Given the description of an element on the screen output the (x, y) to click on. 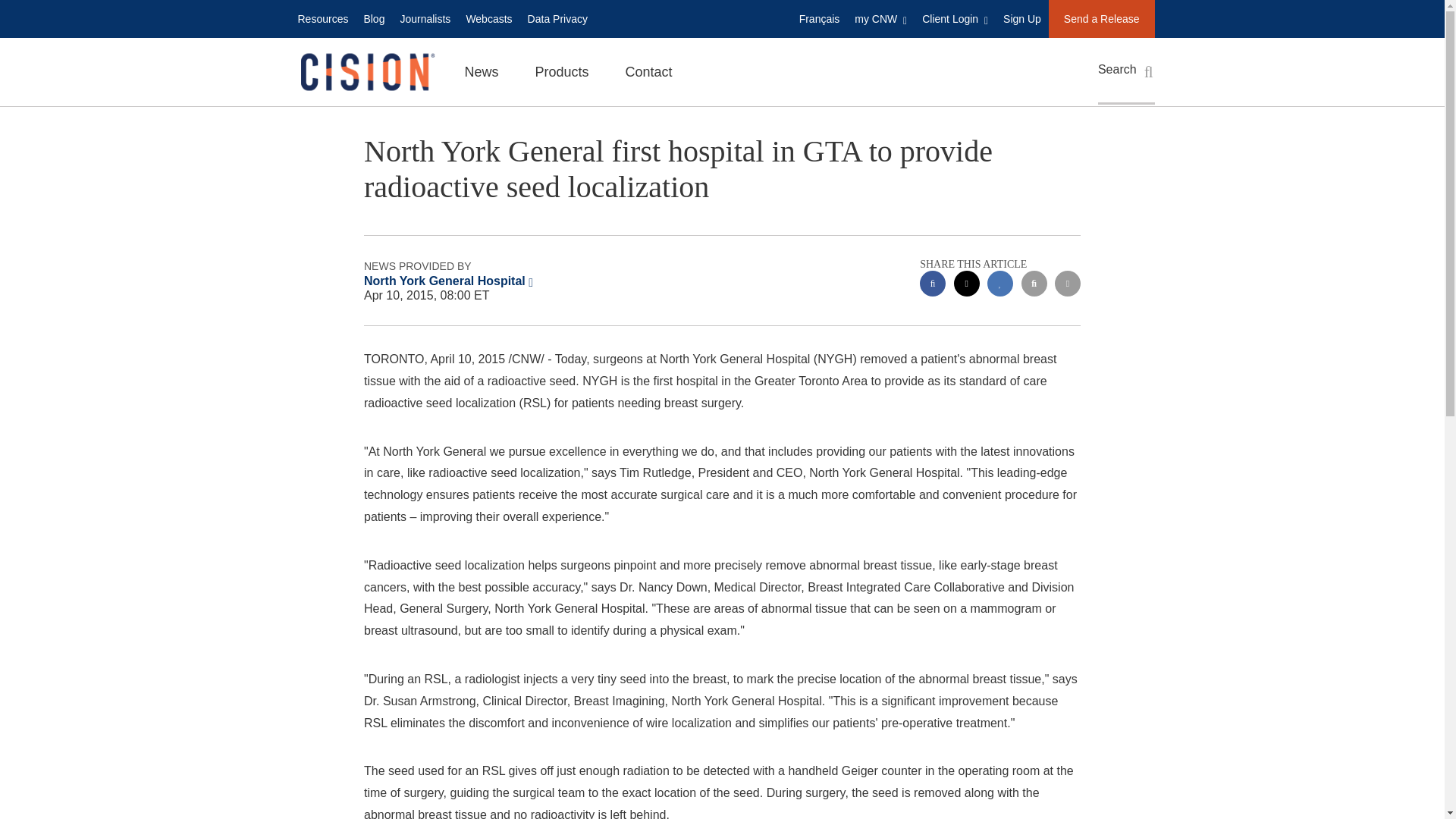
Sign Up (1021, 18)
Webcasts (488, 18)
Resources (322, 18)
Data Privacy (557, 18)
Journalists (424, 18)
Send a Release (1101, 18)
Client Login  (954, 18)
Cision Canada (366, 71)
News (480, 71)
Products (561, 71)
Blog (373, 18)
my CNW  (880, 18)
Contact (648, 71)
